Given the description of an element on the screen output the (x, y) to click on. 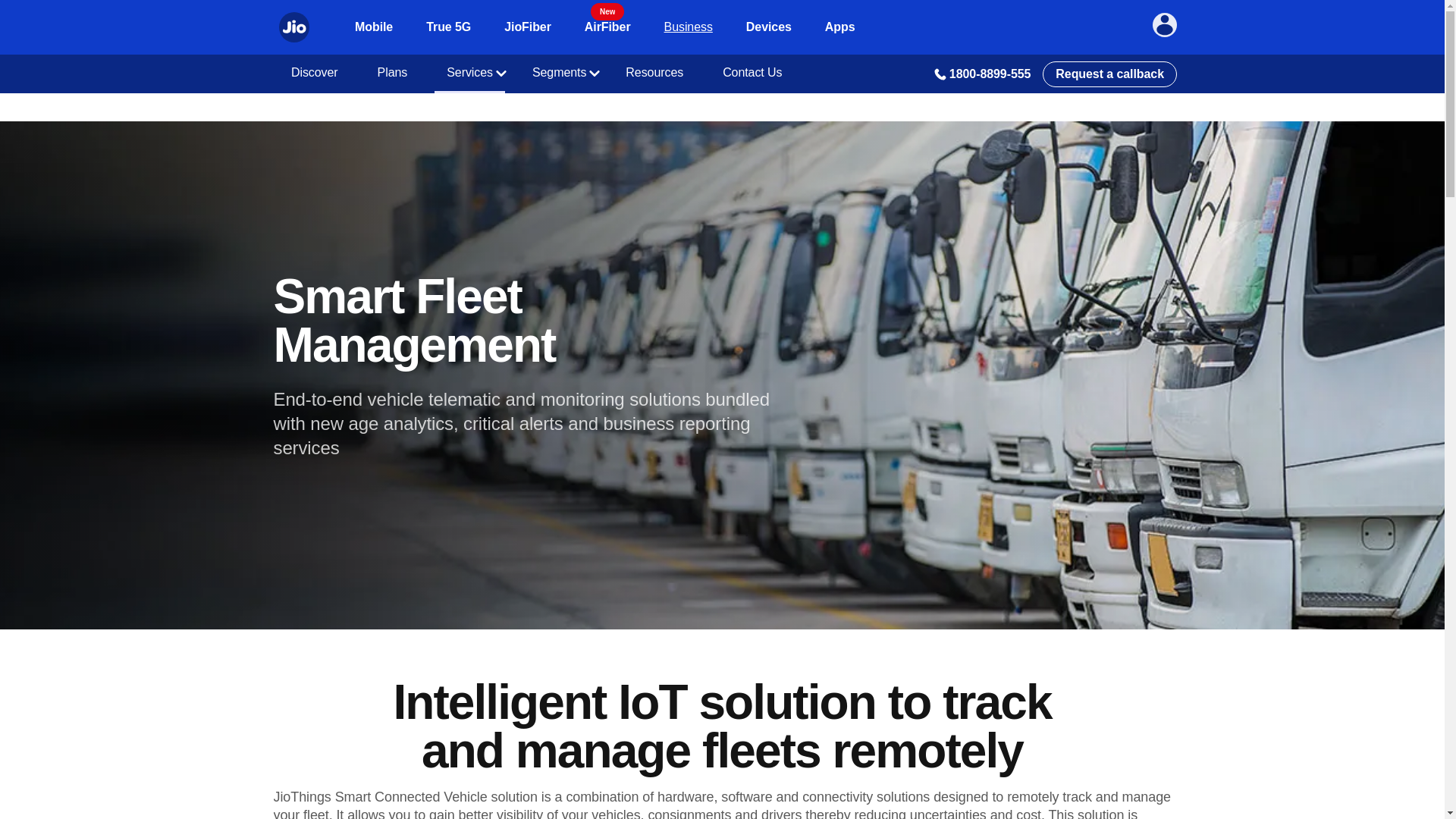
Devices (768, 27)
Discover (314, 73)
Apps (840, 27)
JioFiber (607, 27)
Mobile (527, 27)
True 5G (374, 27)
Services (448, 27)
Plans (469, 73)
Business (392, 73)
